Given the description of an element on the screen output the (x, y) to click on. 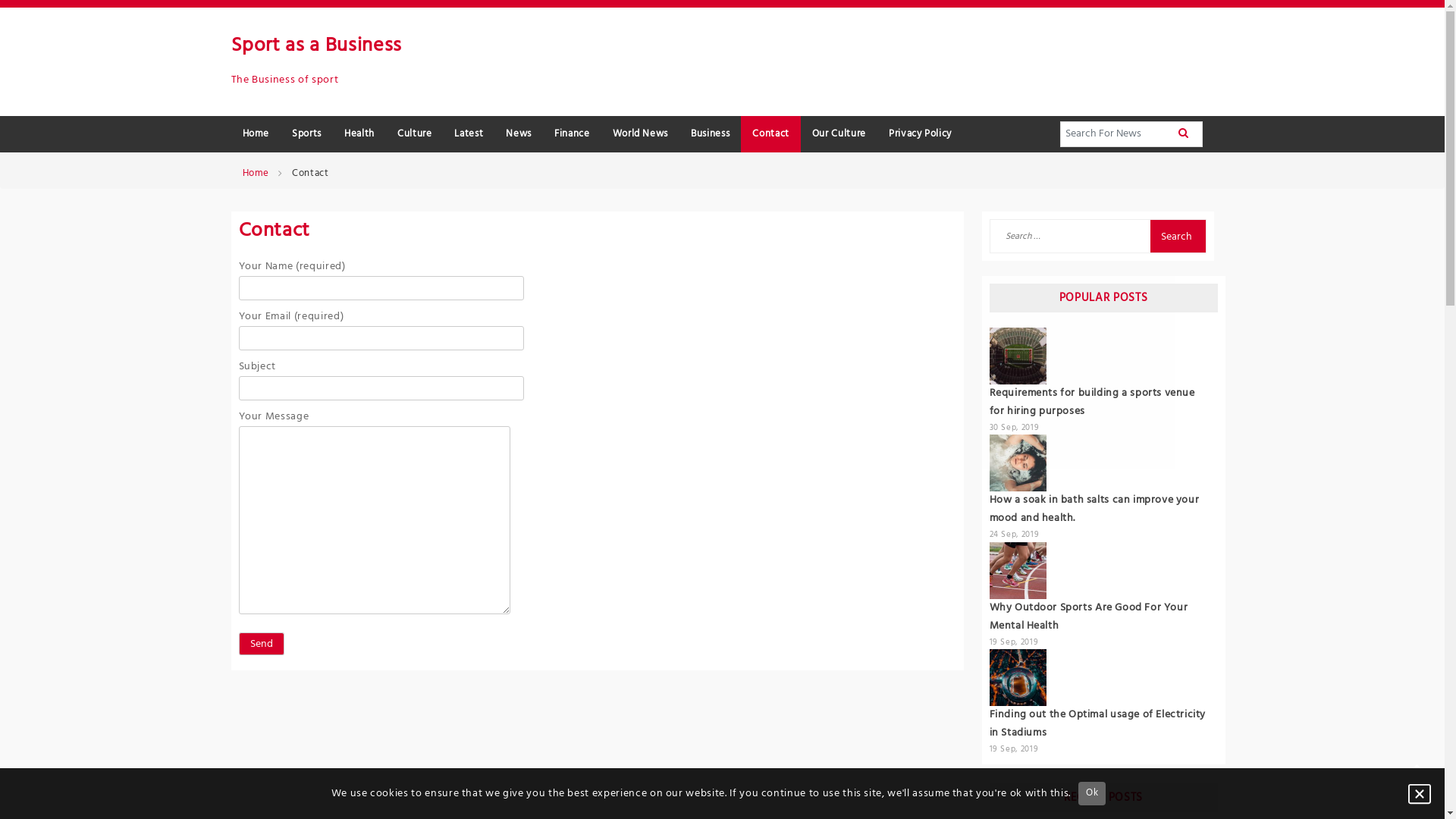
Requirements for building a sports venue for hiring purposes Element type: text (1091, 402)
Search Element type: text (1176, 235)
Ok Element type: text (1091, 793)
Contact Element type: text (770, 134)
Why Outdoor Sports Are Good For Your Mental Health Element type: text (1087, 616)
World News Element type: text (640, 134)
Culture Element type: text (414, 134)
Send Element type: text (260, 643)
Go to Top Element type: hover (1416, 769)
Business Element type: text (709, 134)
Sports Element type: text (306, 134)
Our Culture Element type: text (838, 134)
News Element type: text (518, 134)
Health Element type: text (358, 134)
Home Element type: text (255, 134)
Privacy Policy Element type: text (920, 134)
Home Element type: text (255, 173)
Sport as a Business Element type: text (315, 45)
Finance Element type: text (571, 134)
Finding out the Optimal usage of Electricity in Stadiums Element type: text (1096, 723)
Latest Element type: text (468, 134)
How a soak in bath salts can improve your mood and health. Element type: text (1093, 509)
